Given the description of an element on the screen output the (x, y) to click on. 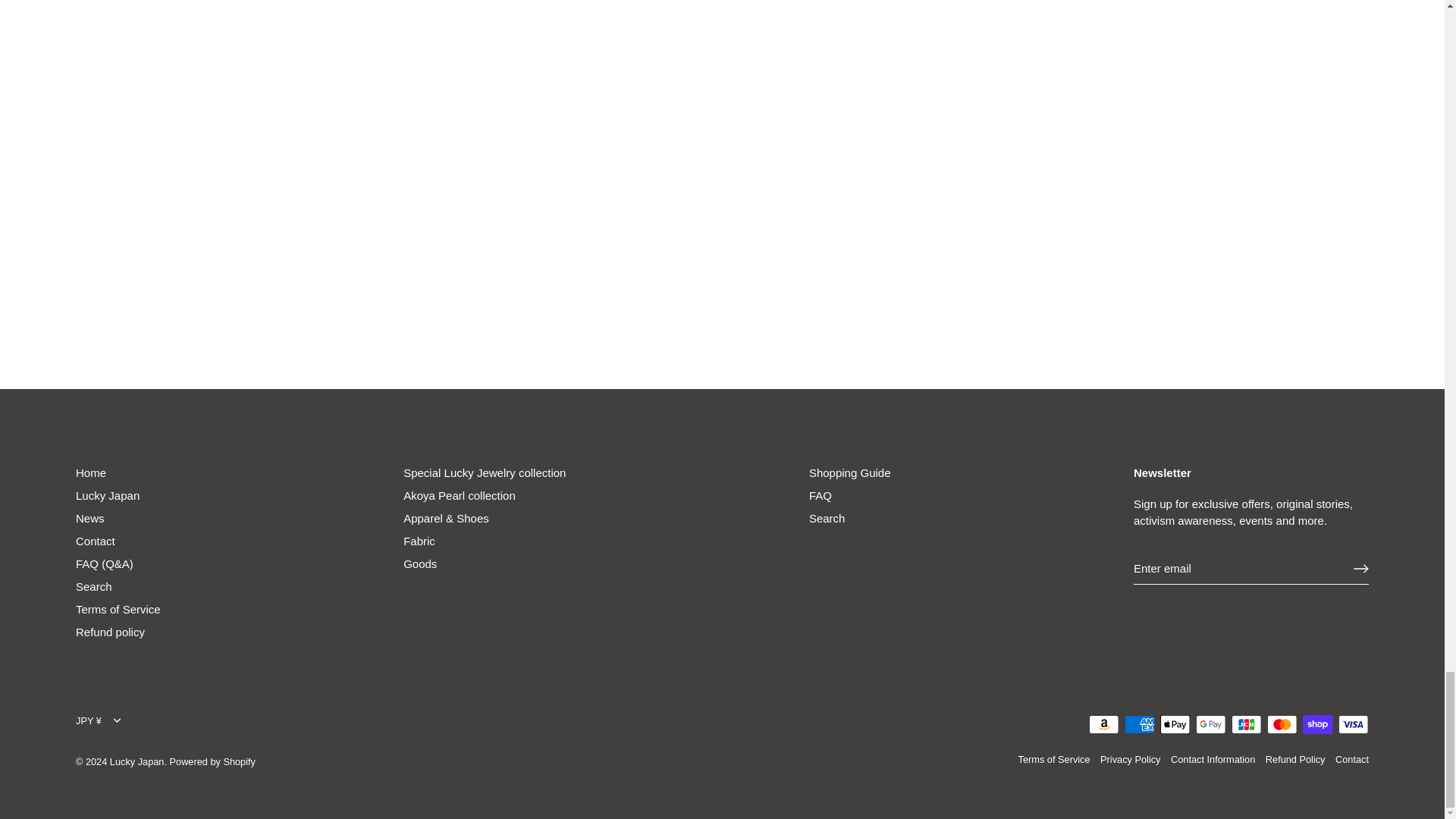
Google Pay (1210, 723)
Amazon (1104, 723)
Visa (1353, 723)
JCB (1245, 723)
Mastercard (1281, 723)
American Express (1139, 723)
RIGHT ARROW LONG (1361, 568)
Shop Pay (1317, 723)
Apple Pay (1174, 723)
